Given the description of an element on the screen output the (x, y) to click on. 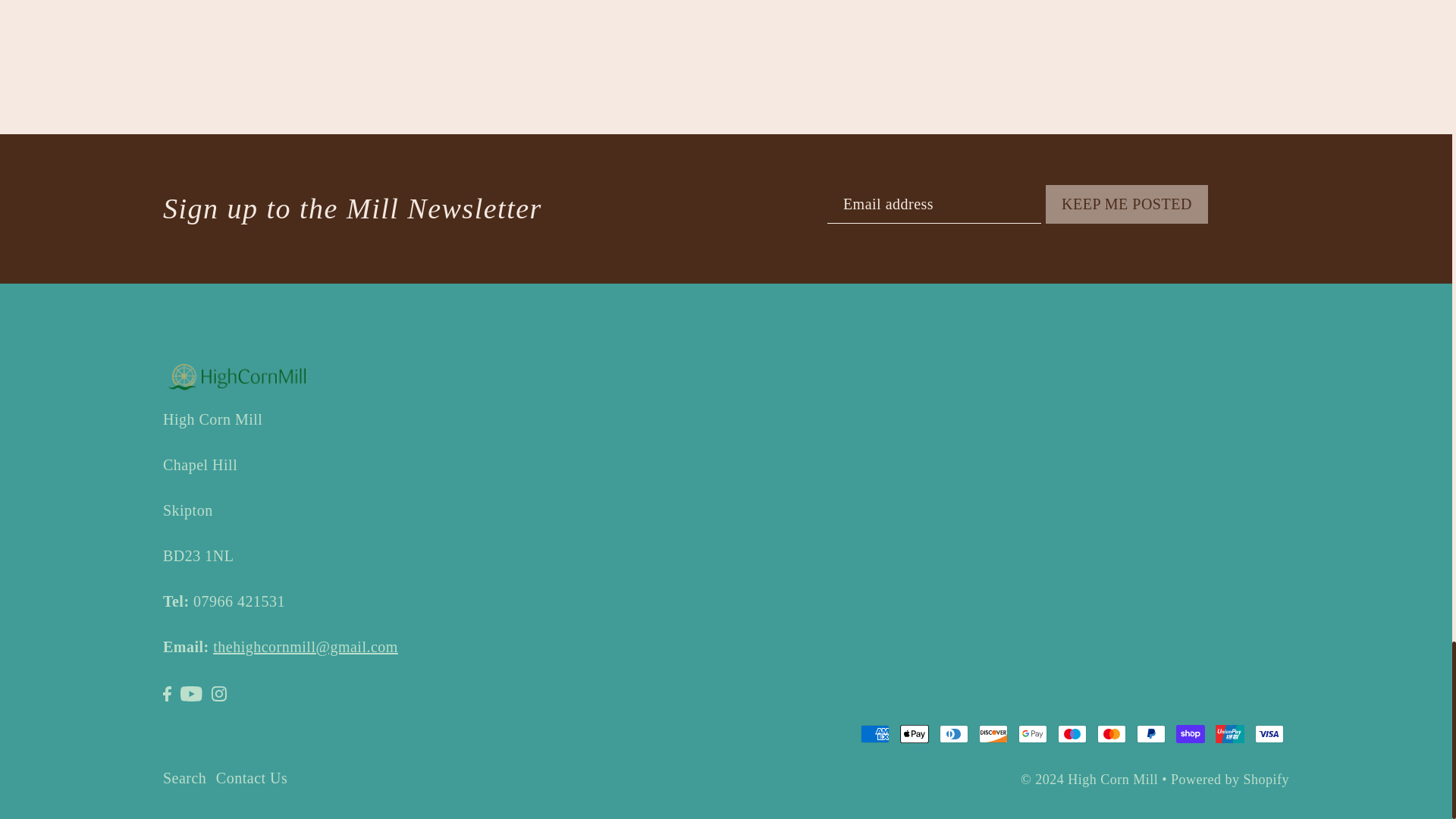
Mastercard (1111, 733)
Google Pay (1031, 733)
PayPal (1151, 733)
Shop Pay (1190, 733)
Diners Club (953, 733)
Discover (992, 733)
Union Pay (1229, 733)
Maestro (1072, 733)
Apple Pay (913, 733)
American Express (874, 733)
